Given the description of an element on the screen output the (x, y) to click on. 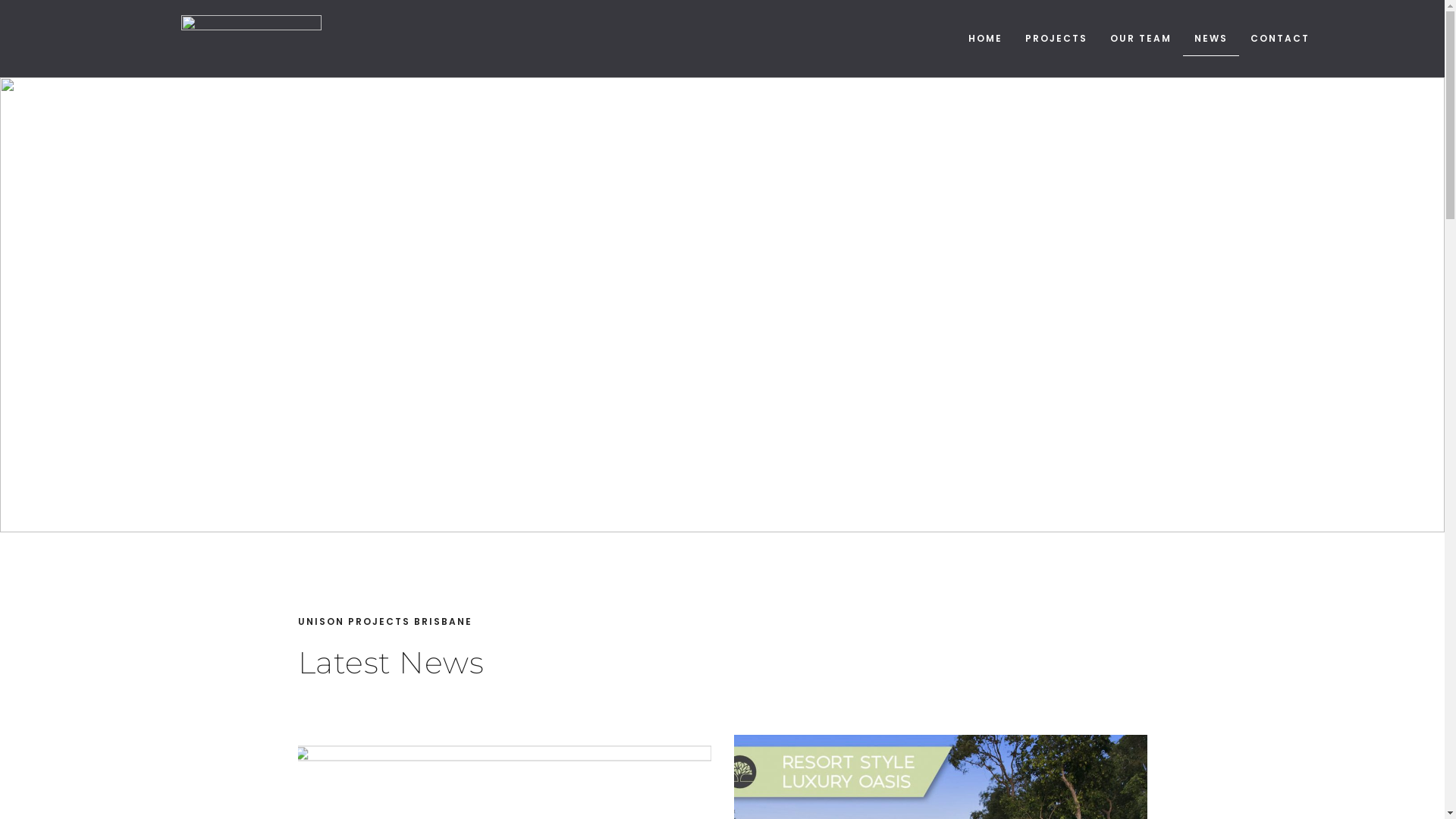
PROJECTS Element type: text (1055, 38)
CONTACT Element type: text (1280, 38)
NEWS Element type: text (1211, 38)
OUR TEAM Element type: text (1140, 38)
HOME Element type: text (985, 38)
